Given the description of an element on the screen output the (x, y) to click on. 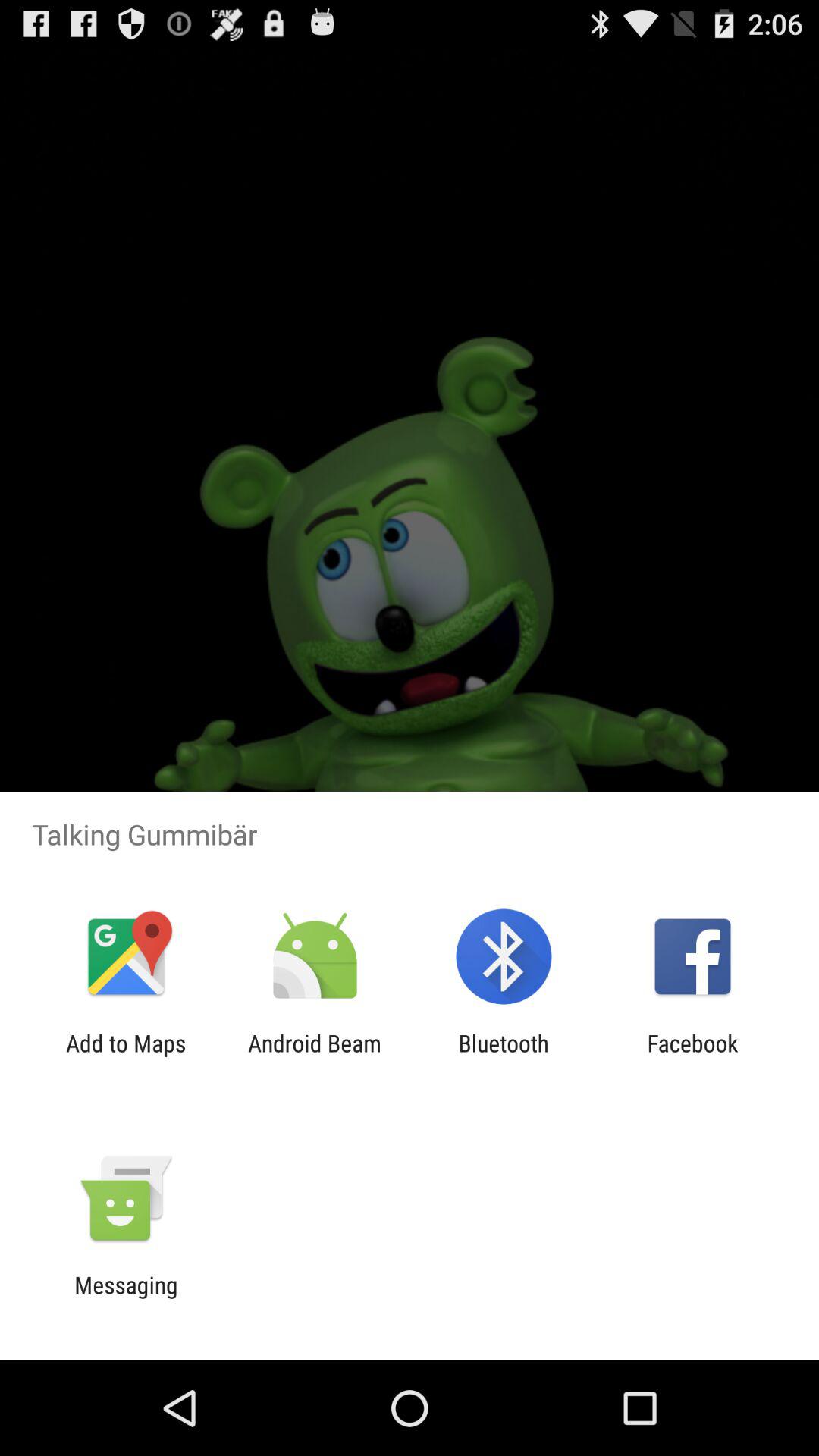
click the add to maps icon (125, 1056)
